Given the description of an element on the screen output the (x, y) to click on. 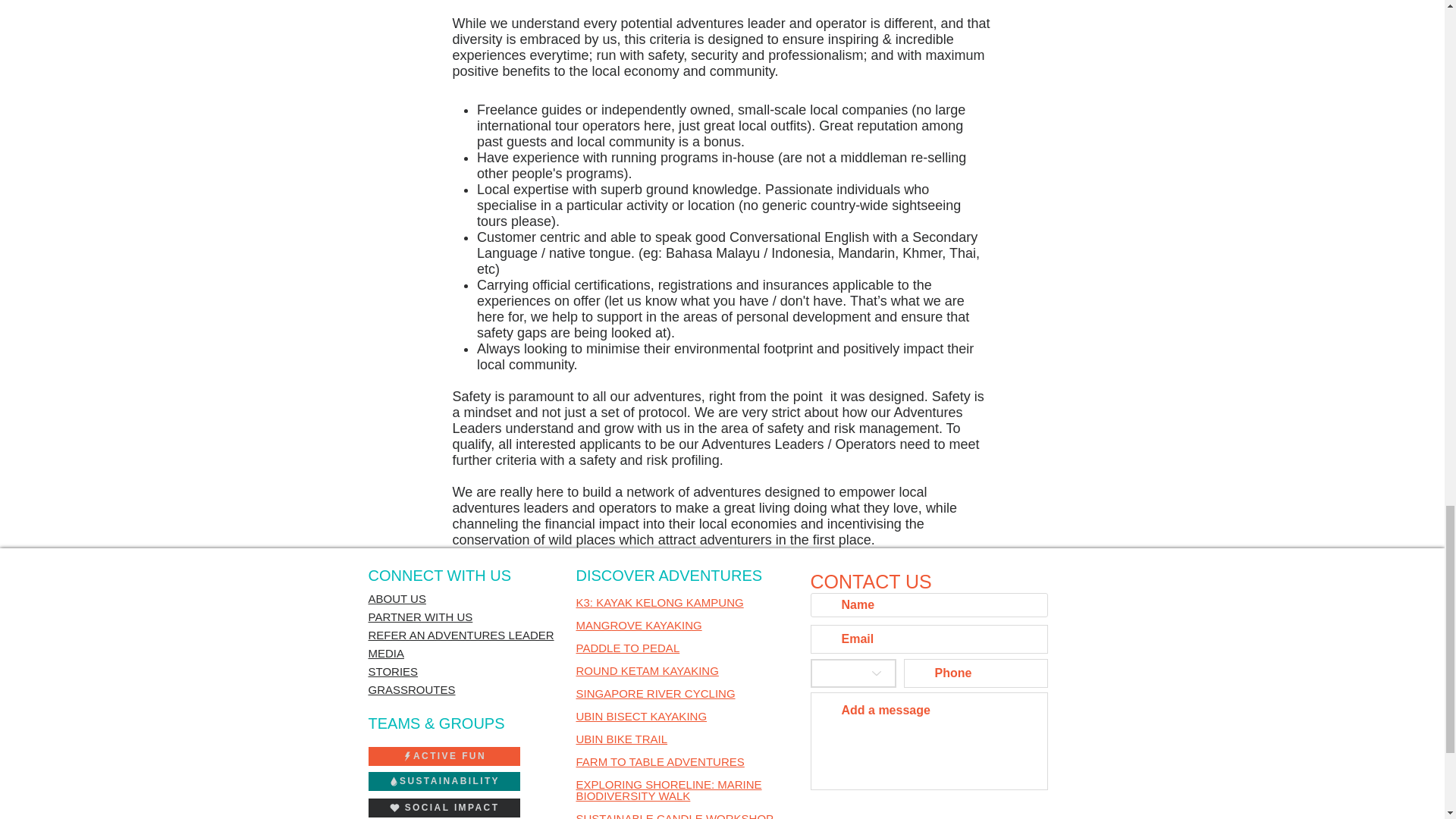
UBIN BISECT KAYAKING (641, 716)
ACTIVE FUN (443, 755)
FARM TO TABLE ADVENTURES (660, 761)
REFER AN ADVENTURES LEADER (461, 634)
SUSTAINABLE CANDLE WORKSHOP (675, 815)
K3: KAYAK KELONG KAMPUNG (660, 602)
MEDIA (386, 653)
EXPLORING SHORELINE: MARINE BIODIVERSITY WALK (668, 790)
PARTNER WITH US (420, 616)
SUSTAINABILITY (443, 781)
